Given the description of an element on the screen output the (x, y) to click on. 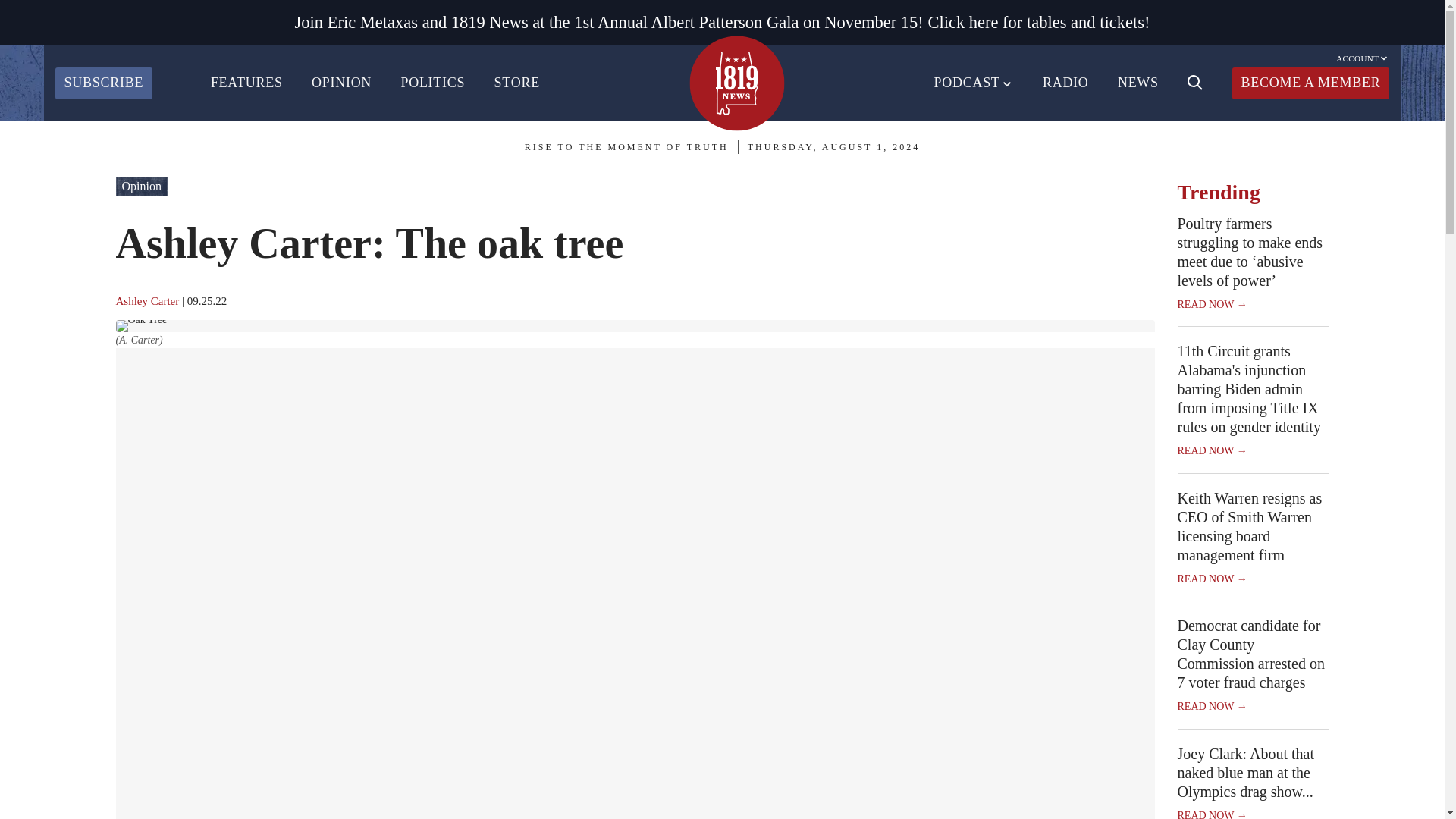
NEWS (1138, 83)
FEATURES (246, 83)
Ashley Carter (147, 300)
PODCAST (973, 83)
HOMEPAGE (736, 83)
OPINION (341, 83)
STORE (517, 83)
SUBSCRIBE (103, 83)
RADIO (1065, 83)
Opinion (141, 186)
